Given the description of an element on the screen output the (x, y) to click on. 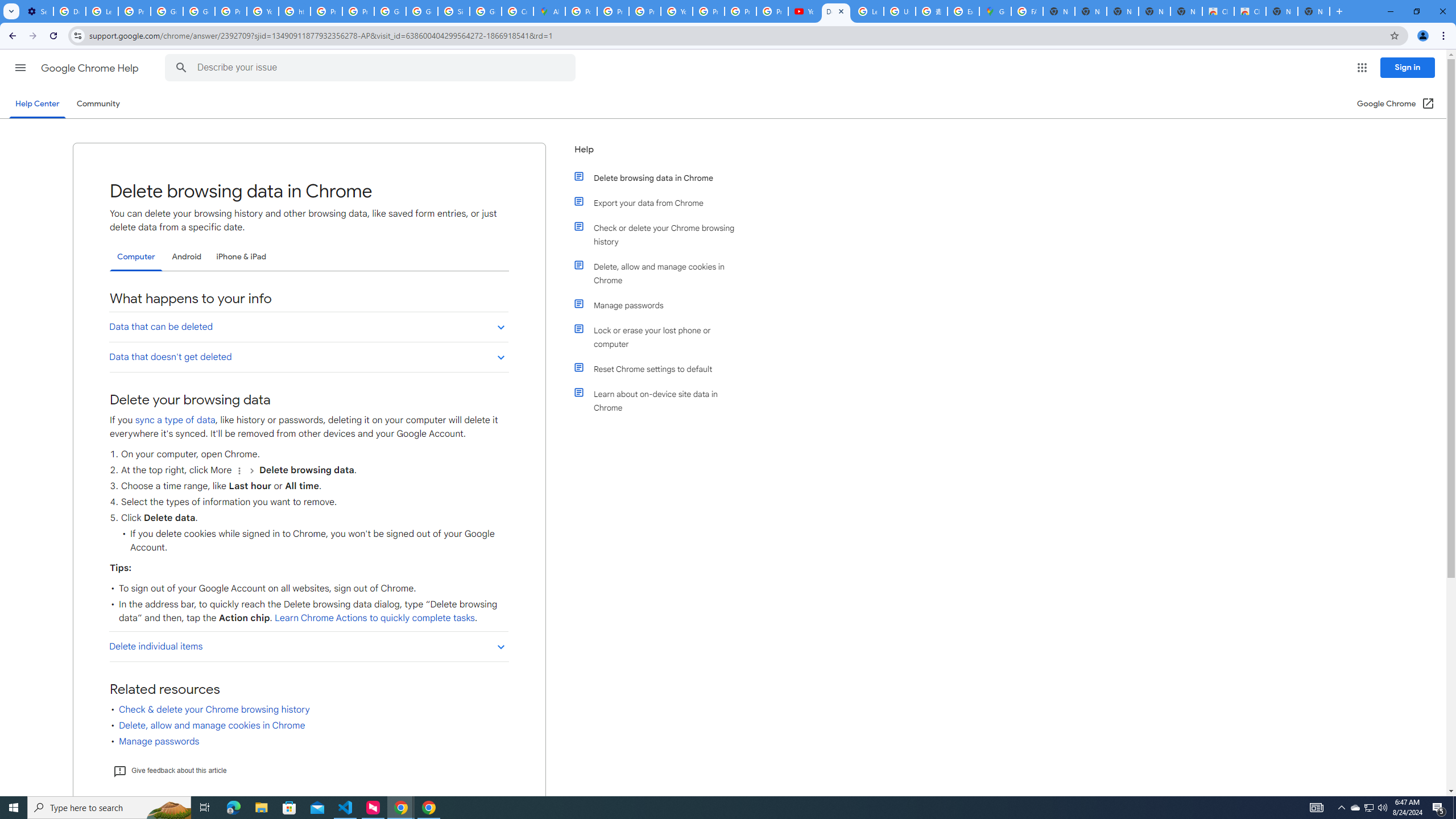
Community (97, 103)
More (239, 470)
Delete, allow and manage cookies in Chrome (661, 273)
New Tab (1313, 11)
Google Maps (995, 11)
Check or delete your Chrome browsing history (661, 234)
Classic Blue - Chrome Web Store (1217, 11)
YouTube (676, 11)
Check & delete your Chrome browsing history (214, 709)
